Given the description of an element on the screen output the (x, y) to click on. 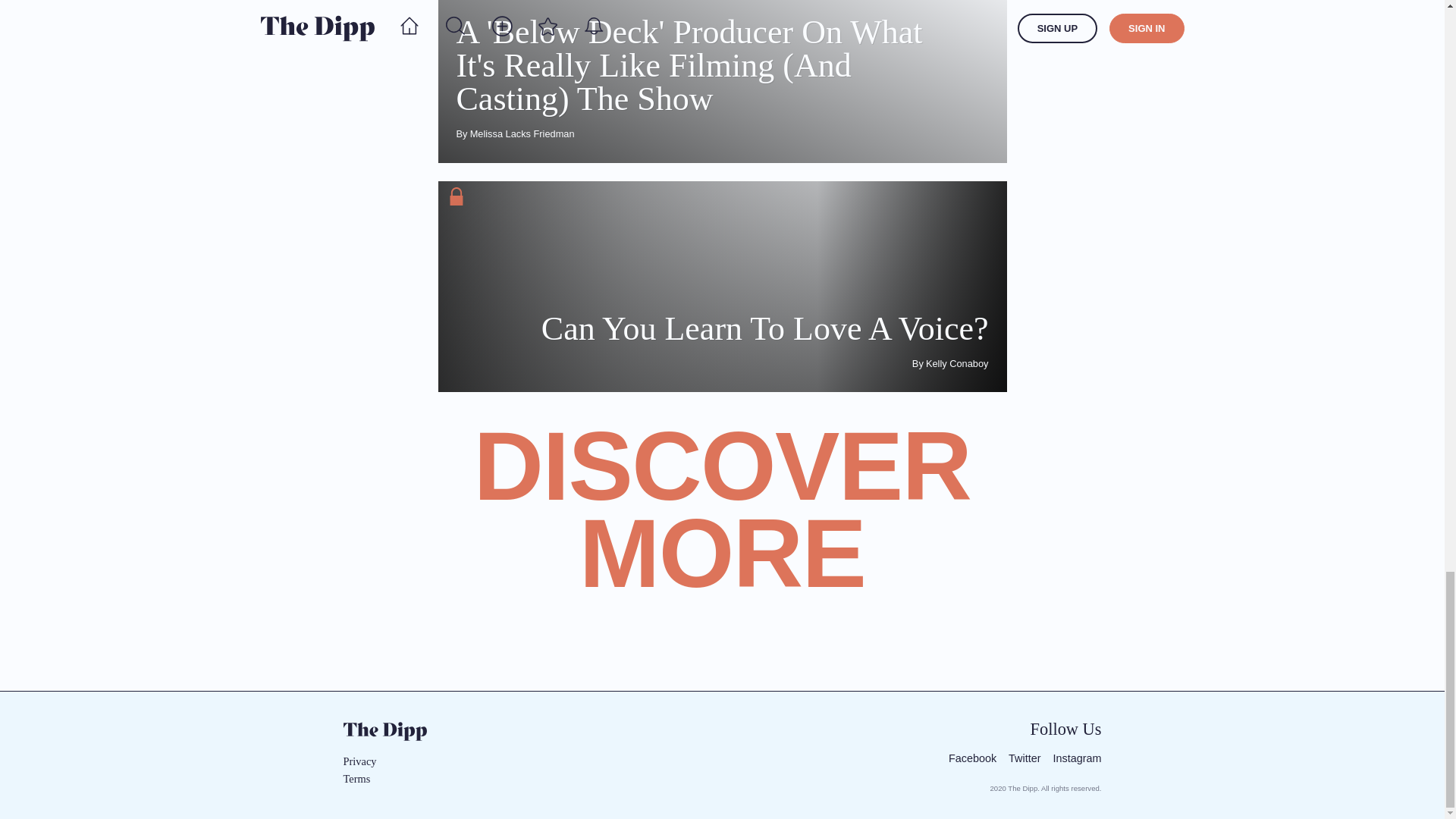
Facebook (972, 758)
Terms (377, 778)
DISCOVER MORE (722, 527)
Dipp (384, 731)
Twitter (1025, 758)
Privacy (377, 761)
Instagram (1076, 758)
